Given the description of an element on the screen output the (x, y) to click on. 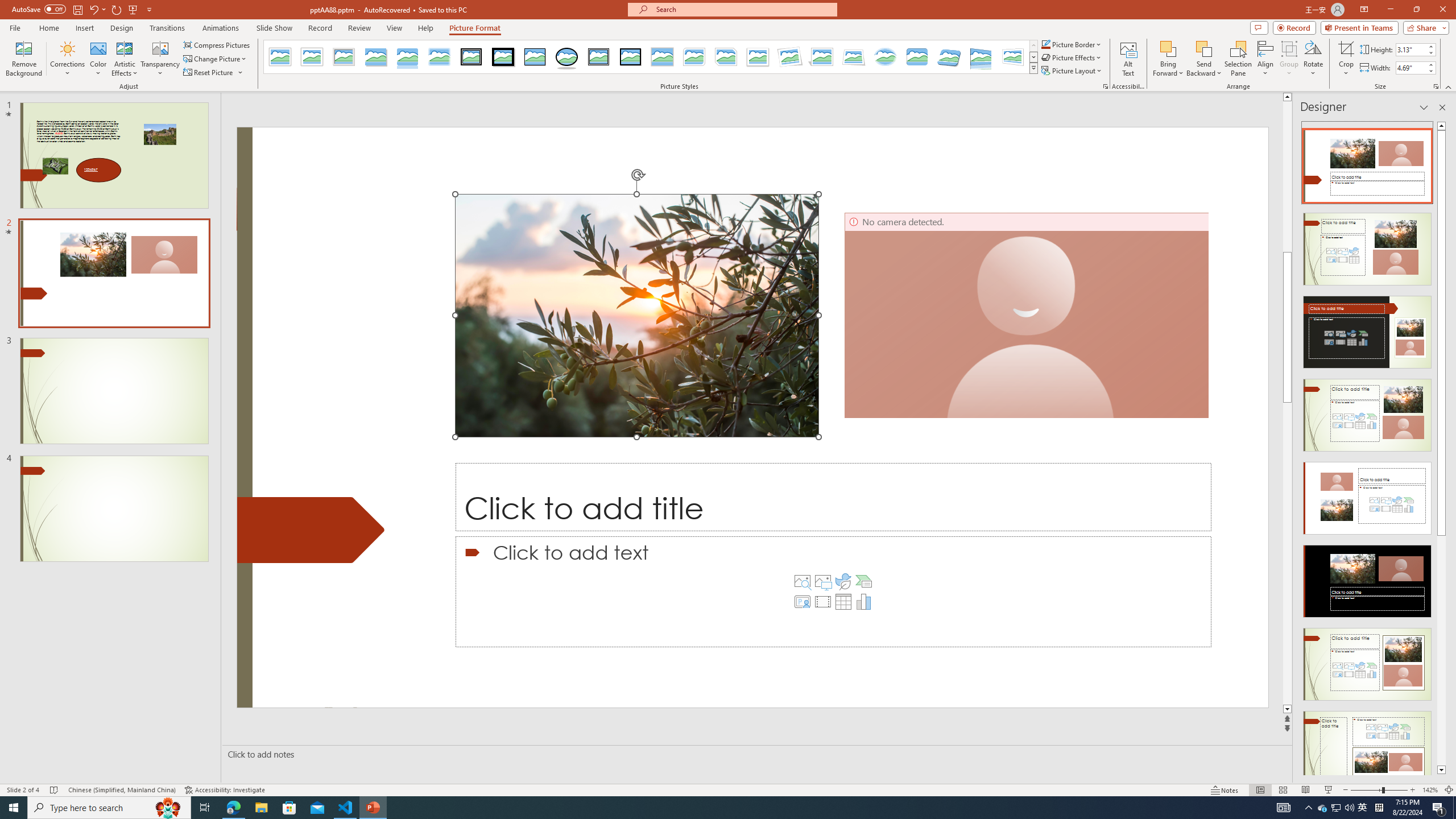
Group (1288, 58)
Compress Pictures... (217, 44)
Size and Position... (1435, 85)
Rounded Diagonal Corner, White (694, 56)
Insert Table (843, 601)
Bring Forward (1168, 58)
Stock Images (801, 581)
Double Frame, Black (471, 56)
Change Picture (216, 58)
Zoom 142% (1430, 790)
